Given the description of an element on the screen output the (x, y) to click on. 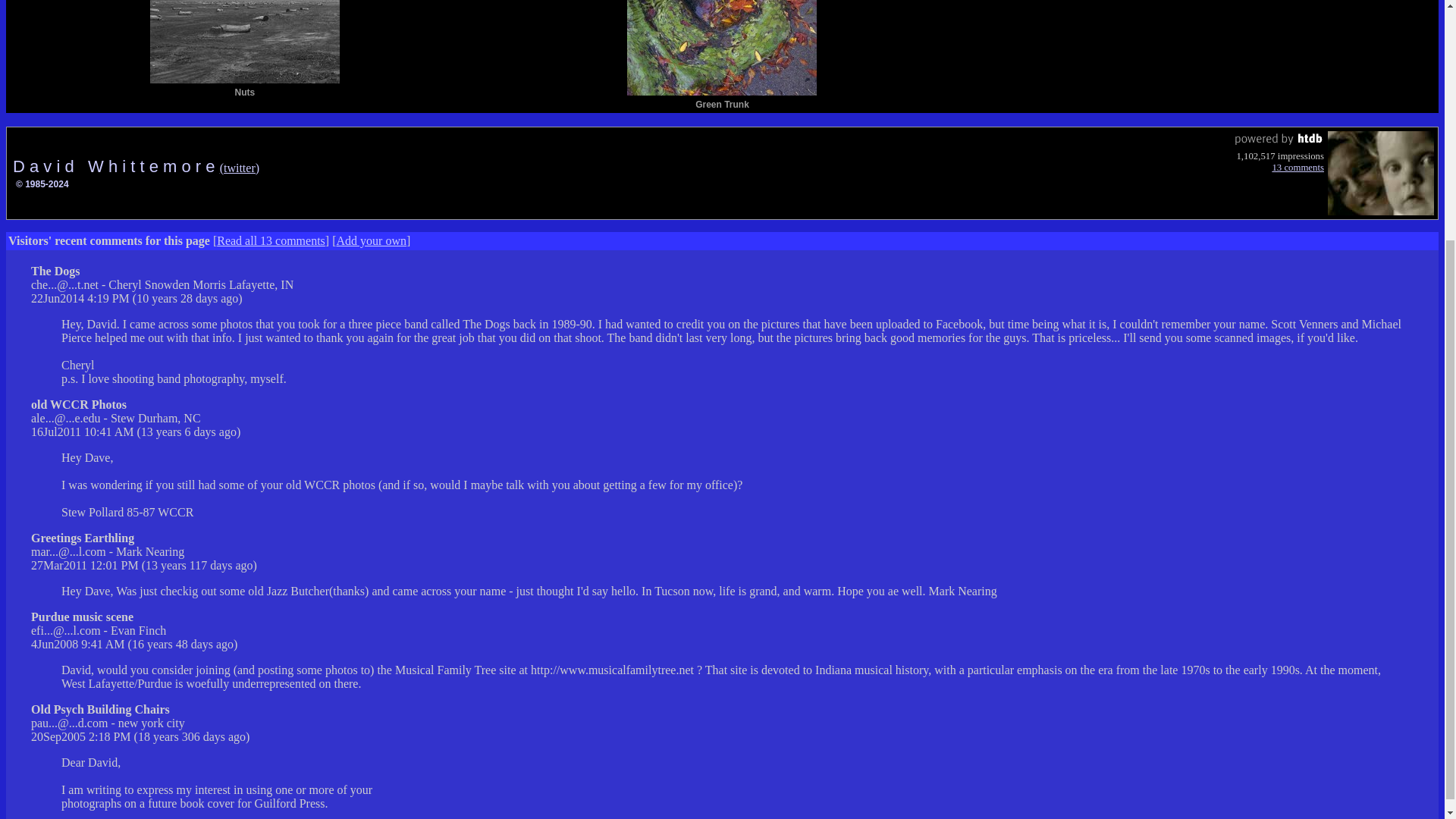
D a v i d   W h i t t e m o r e (116, 166)
13 comments (1297, 167)
Add your own (371, 240)
Read all 13 comments (270, 240)
